Given the description of an element on the screen output the (x, y) to click on. 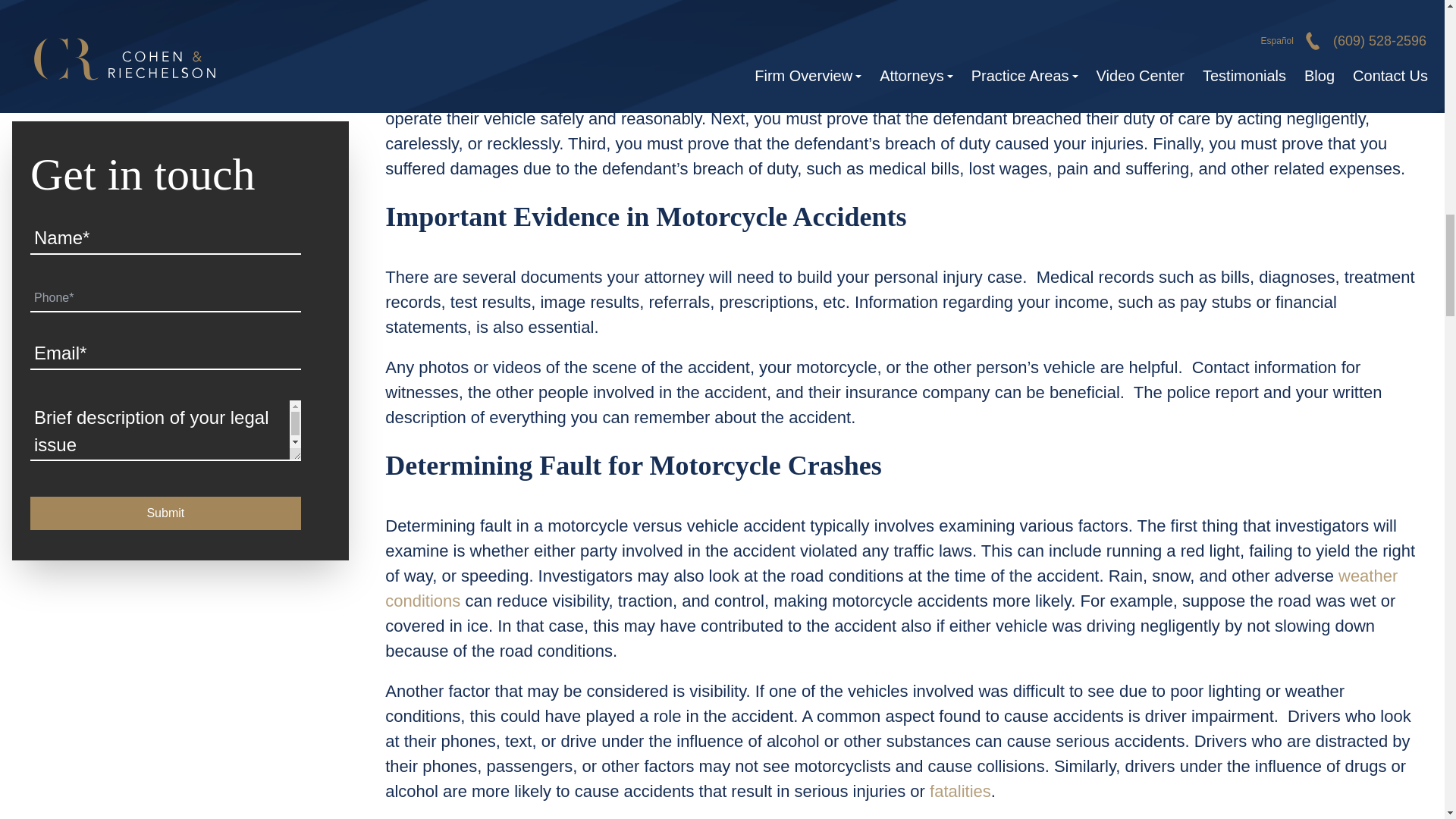
fatalities (960, 791)
weather conditions (891, 588)
